Given the description of an element on the screen output the (x, y) to click on. 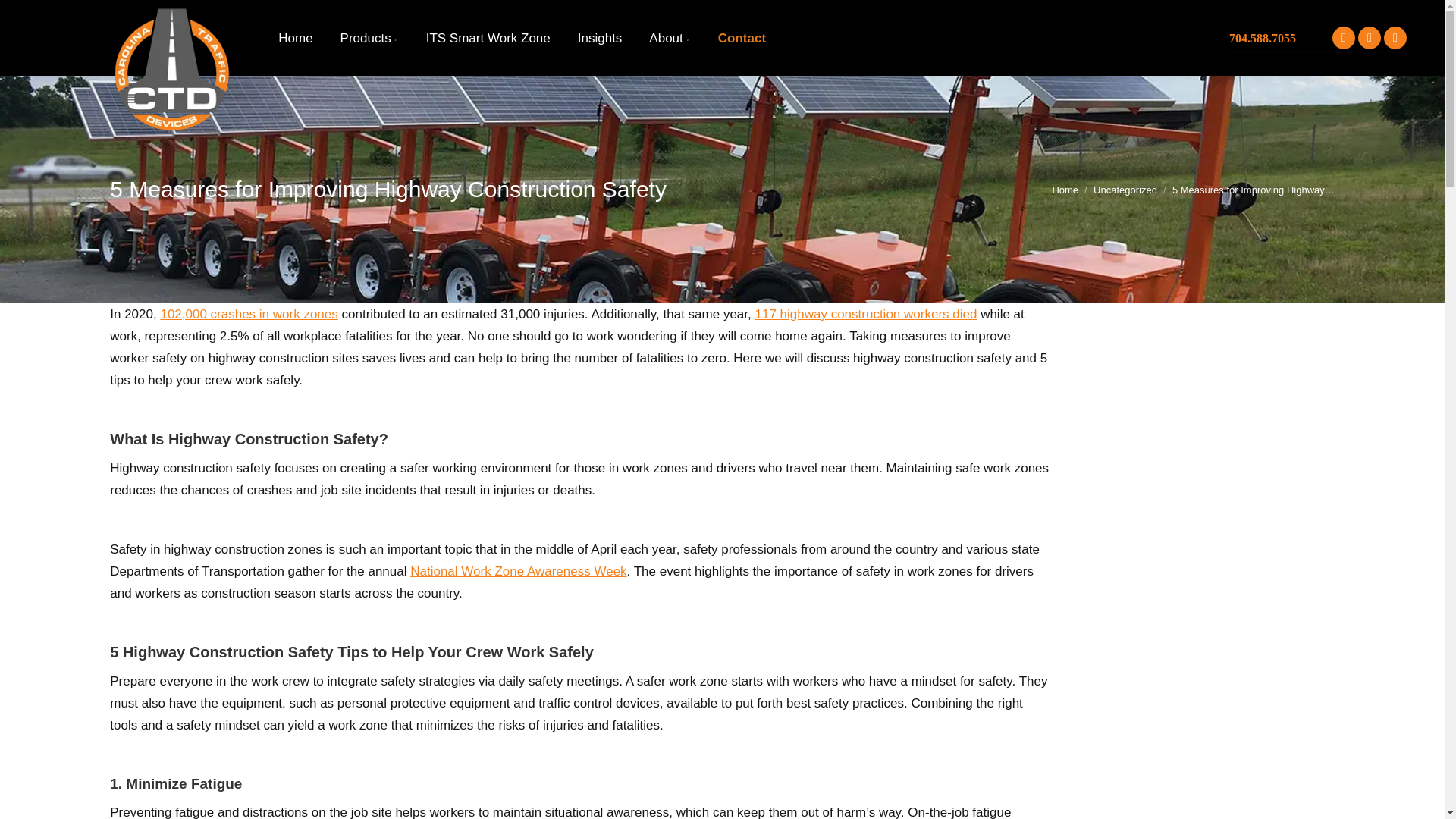
Facebook page opens in new window (1343, 37)
Insights (600, 37)
Instagram page opens in new window (1395, 37)
About (669, 37)
Instagram page opens in new window (1395, 37)
Contact (741, 37)
ITS Smart Work Zone (488, 37)
Twitter page opens in new window (1369, 37)
Facebook page opens in new window (1343, 37)
Products (369, 37)
